Given the description of an element on the screen output the (x, y) to click on. 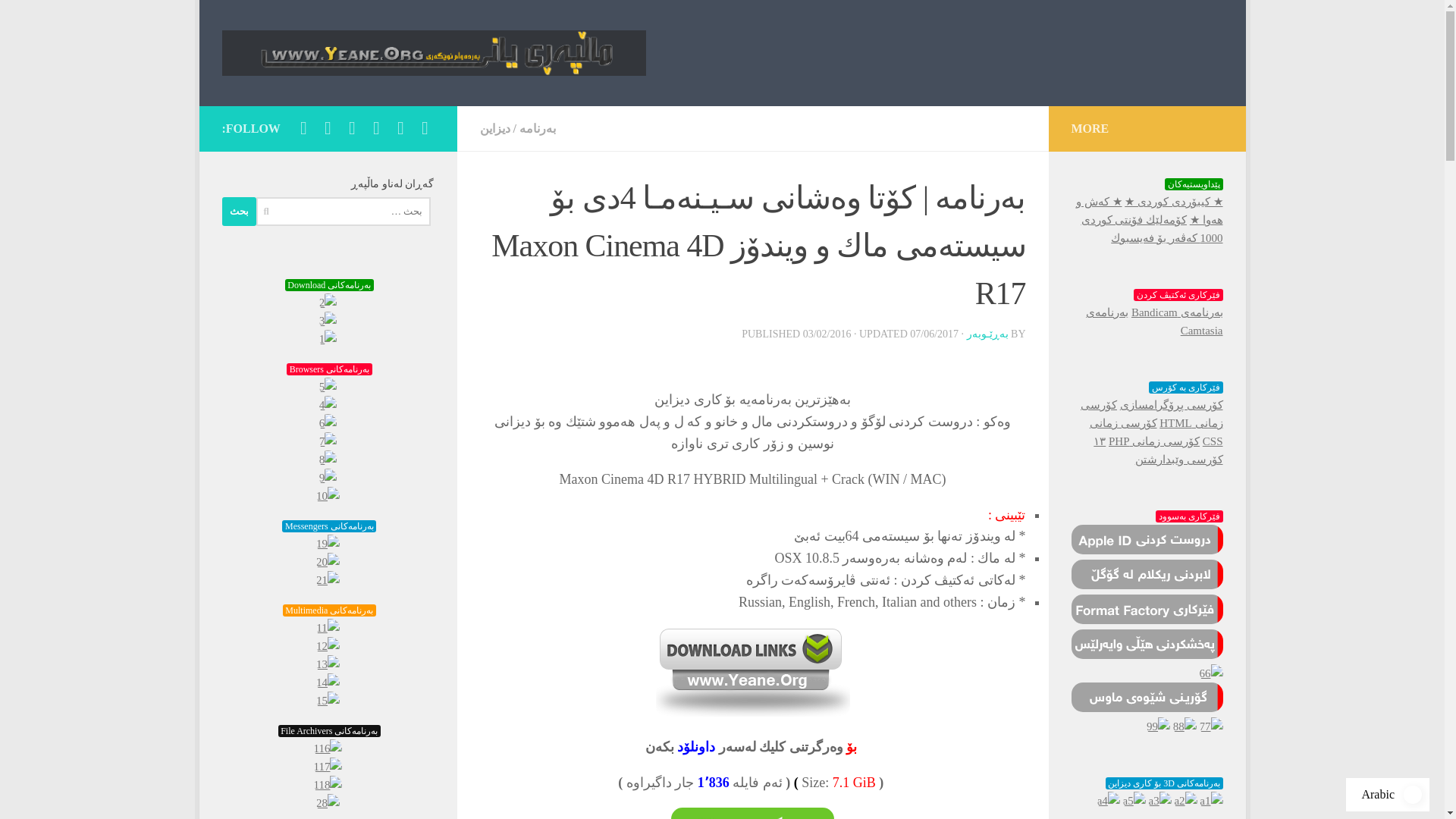
Twitter (375, 127)
Android (351, 127)
Quran (327, 127)
Skip to content (258, 20)
Admin (303, 127)
Facebook (423, 127)
Youtube (400, 127)
